Given the description of an element on the screen output the (x, y) to click on. 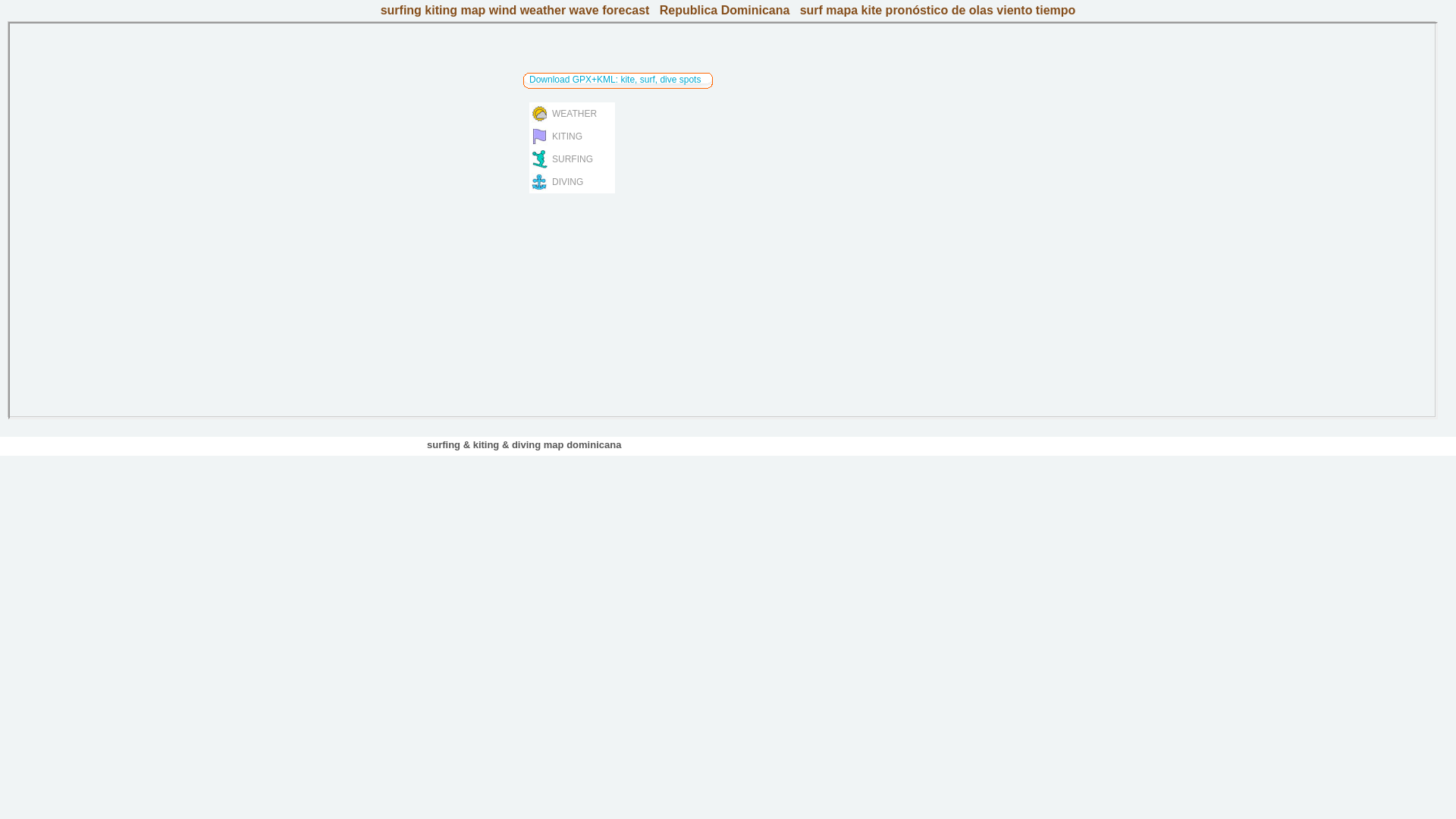
Download GPX+KML: kite, surf, dive spots Element type: text (614, 79)
